Given the description of an element on the screen output the (x, y) to click on. 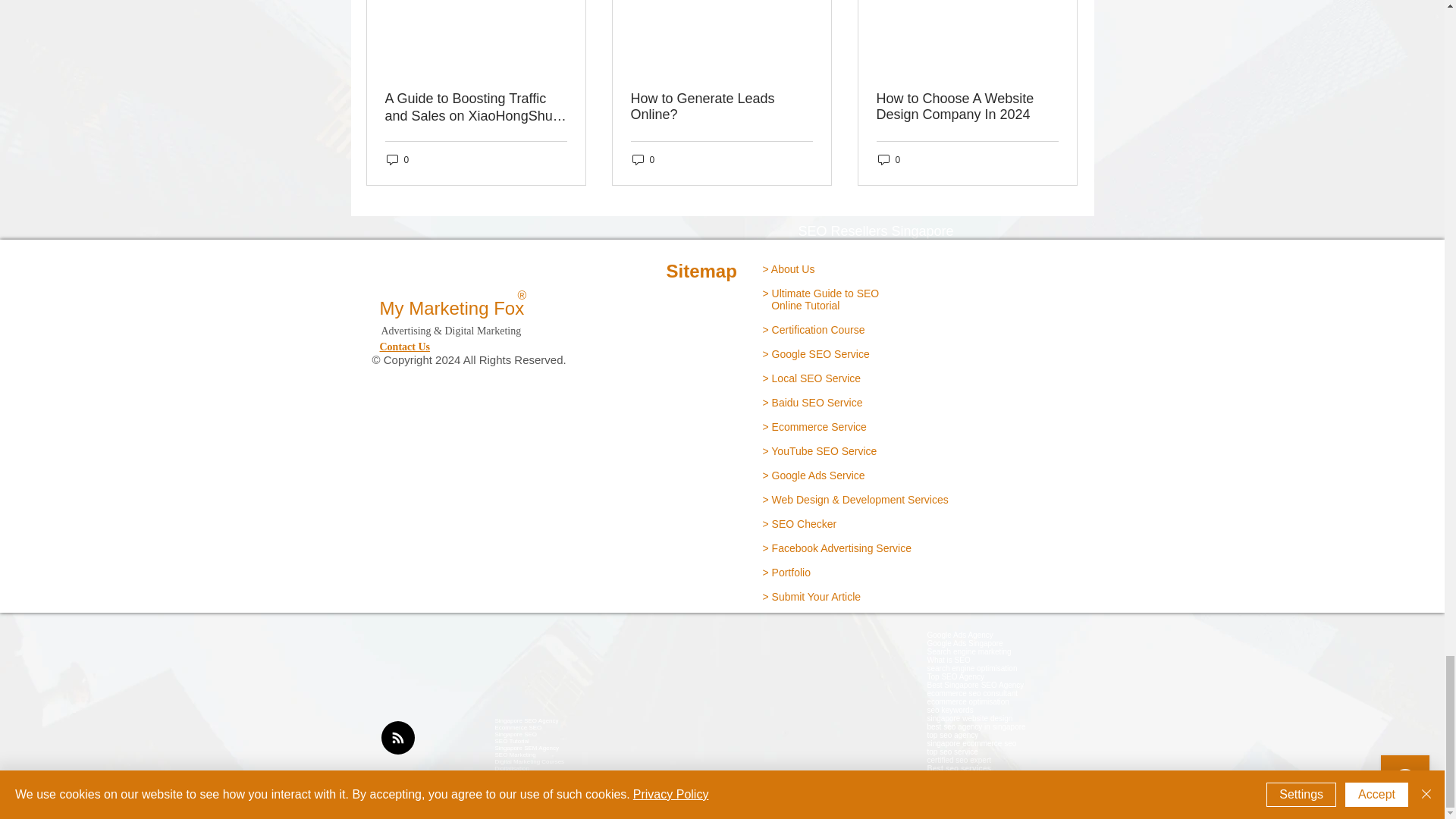
0 (397, 159)
Embedded Content (809, 742)
